Given the description of an element on the screen output the (x, y) to click on. 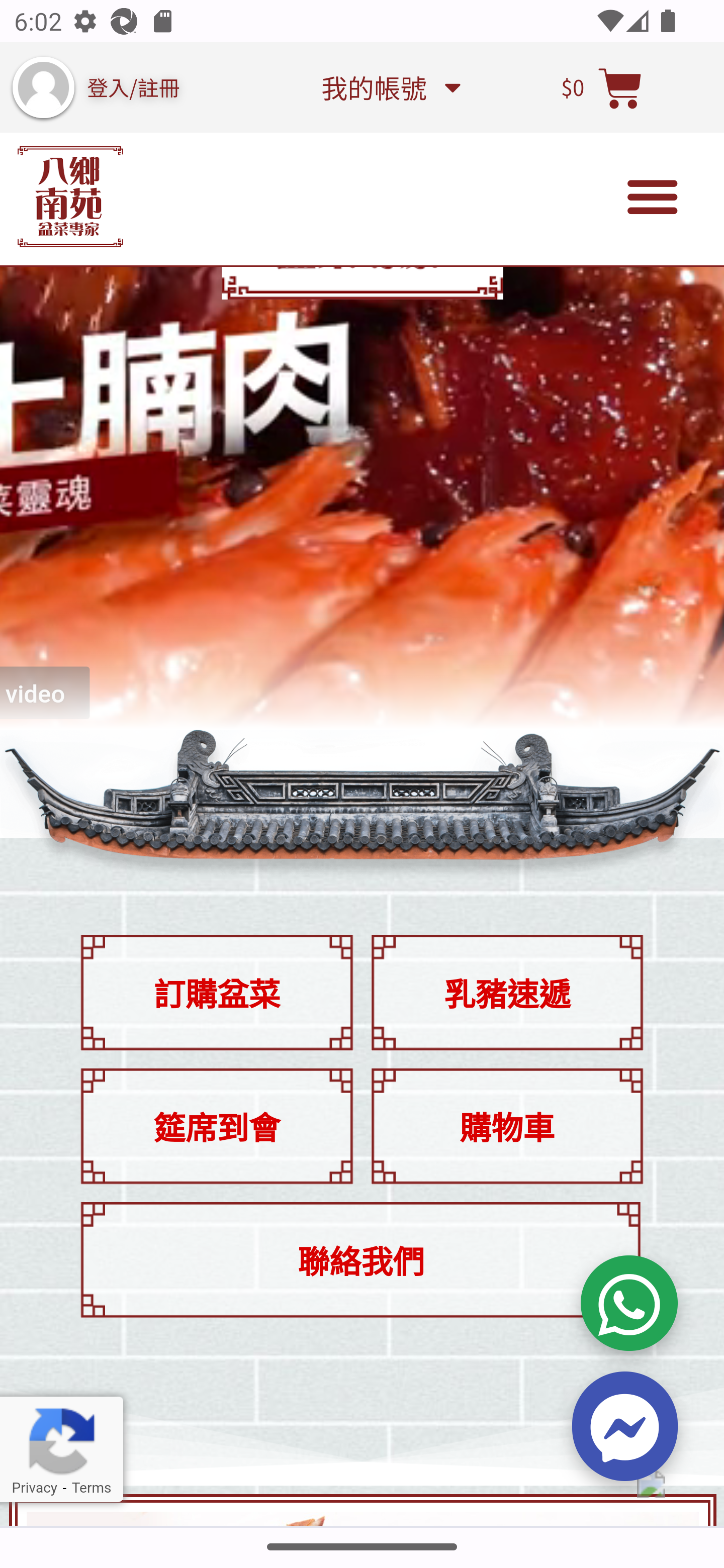
$0  購物籃 $ 0  (601, 87)
我的帳號  我的帳號  (390, 86)
my-account (43, 87)
登入/註冊 (133, 86)
www.poonchoi (70, 195)
選單切換 (652, 197)
訂購盆菜 (215, 993)
乳豬速遞 (506, 993)
筵席到會 (215, 1126)
購物車 (506, 1126)
聯絡我們 (360, 1259)
